Given the description of an element on the screen output the (x, y) to click on. 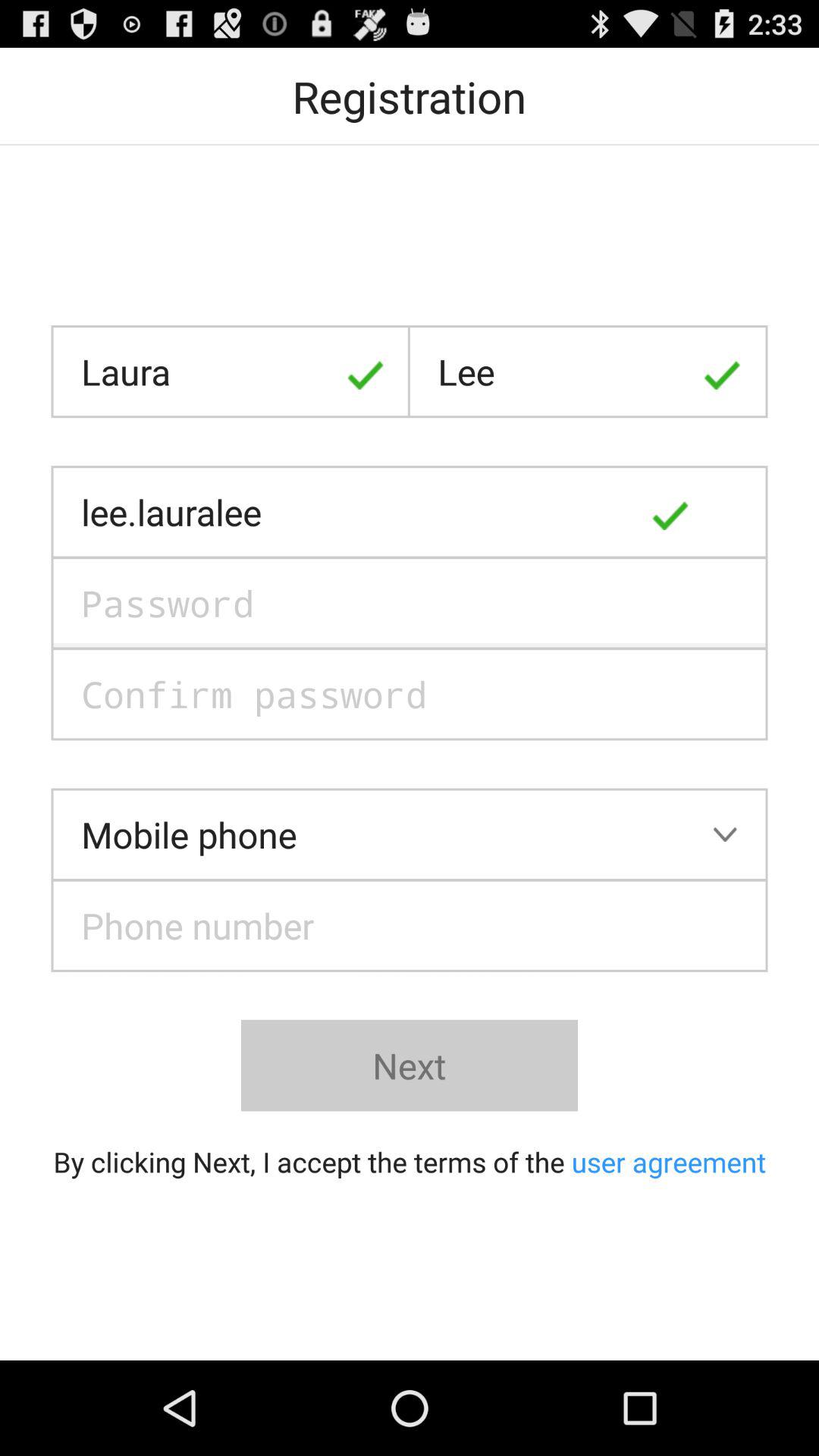
click by clicking next icon (409, 1161)
